Given the description of an element on the screen output the (x, y) to click on. 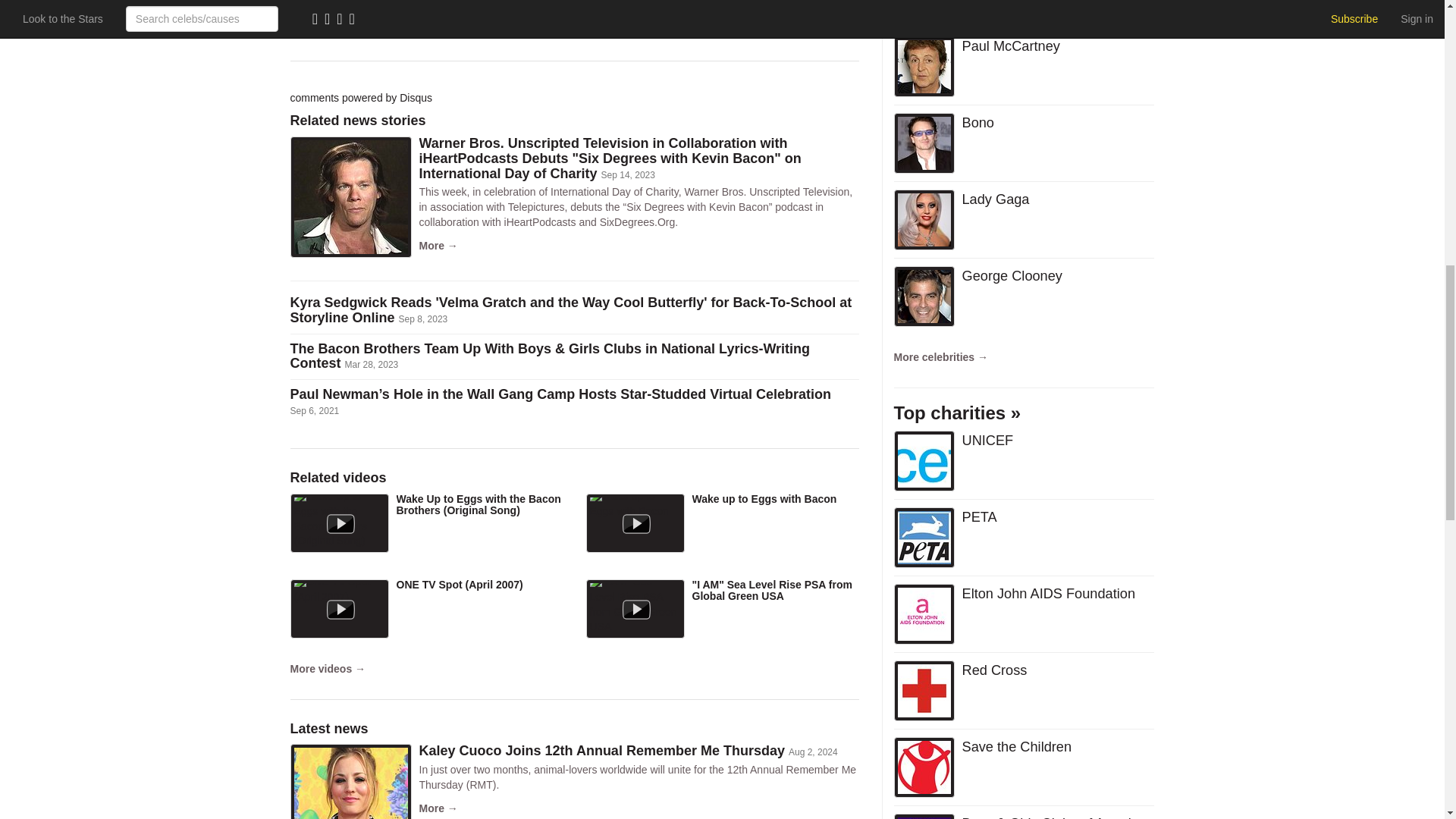
omaze.com (523, 29)
comments powered by Disqus (360, 97)
